Given the description of an element on the screen output the (x, y) to click on. 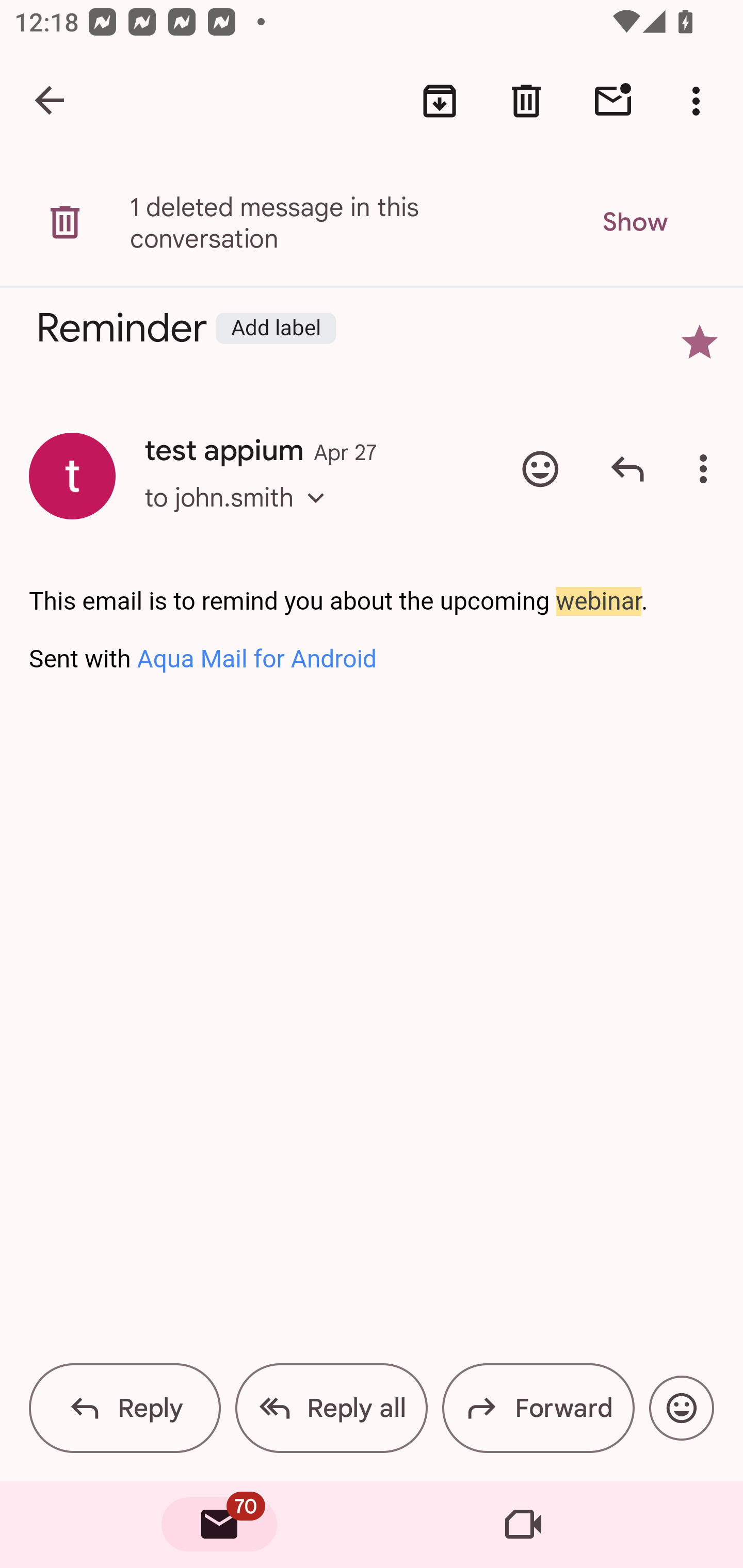
Navigate up (50, 101)
Archive (439, 101)
Delete (525, 101)
Mark unread (612, 101)
More options (699, 101)
Show (634, 222)
Remove star (699, 342)
Add emoji reaction (540, 468)
Reply (626, 468)
More options (706, 468)
Show contact information for test appium (71, 475)
to john.smith (240, 515)
Reply (124, 1407)
Reply all (331, 1407)
Forward (538, 1407)
Add emoji reaction (681, 1407)
Meet (523, 1524)
